Given the description of an element on the screen output the (x, y) to click on. 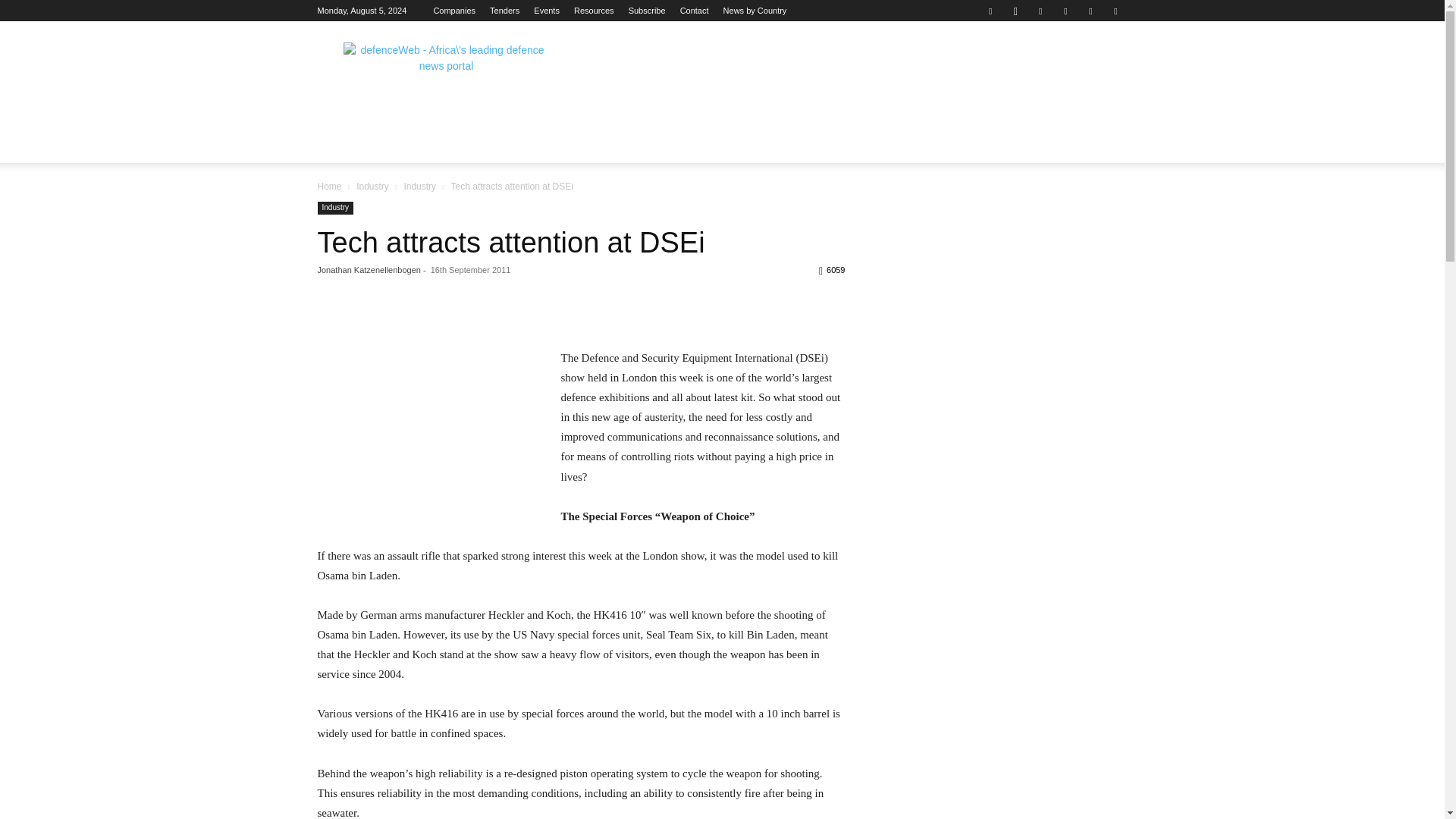
Facebook (989, 10)
Instagram (1015, 10)
Twitter (1090, 10)
Mail (1065, 10)
Youtube (1114, 10)
Linkedin (1040, 10)
